Given the description of an element on the screen output the (x, y) to click on. 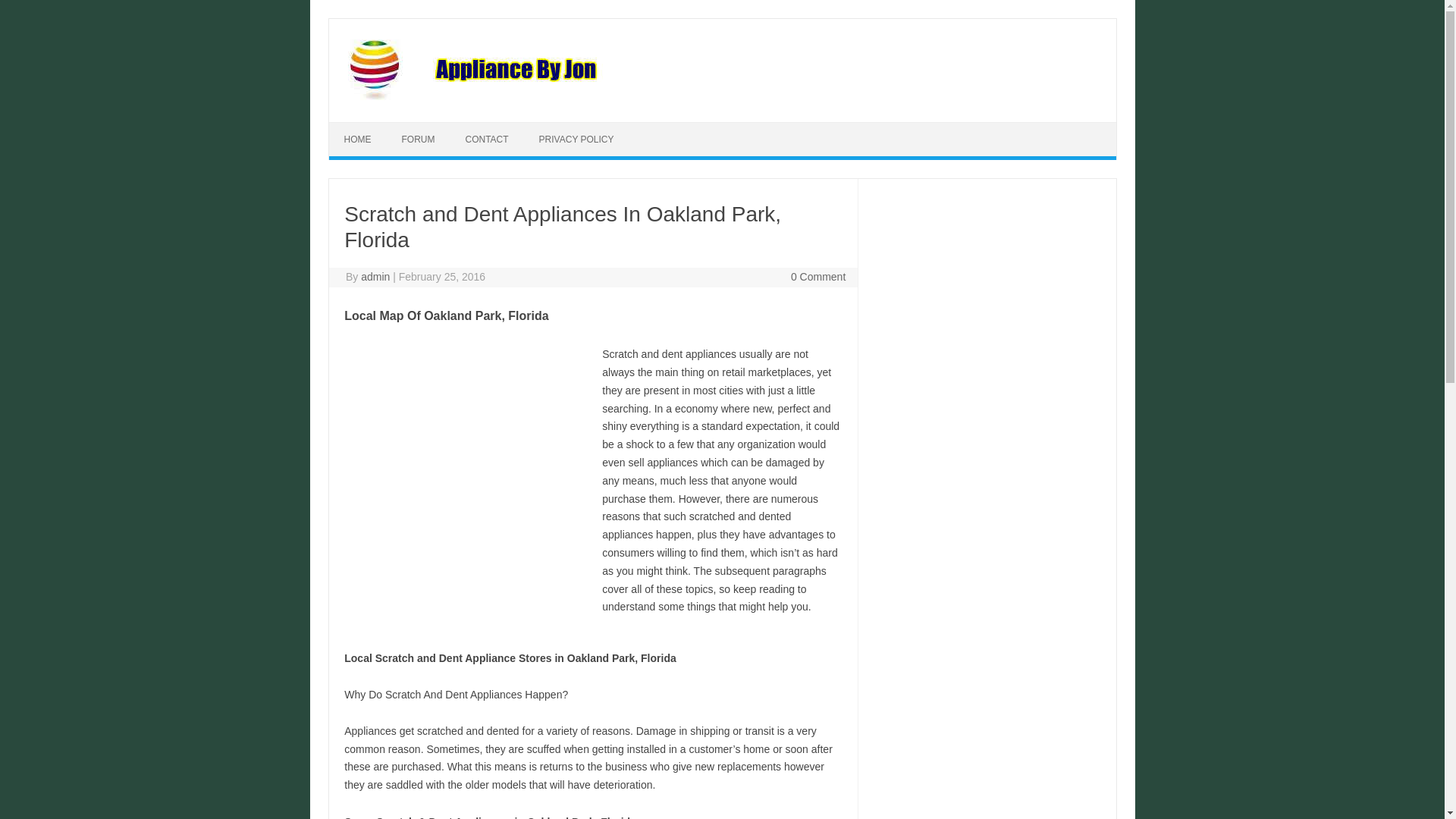
Posts by admin (375, 276)
CONTACT (486, 139)
admin (375, 276)
FORUM (418, 139)
0 Comment (817, 276)
Appliance By Jon (568, 96)
PRIVACY POLICY (576, 139)
HOME (358, 139)
